Given the description of an element on the screen output the (x, y) to click on. 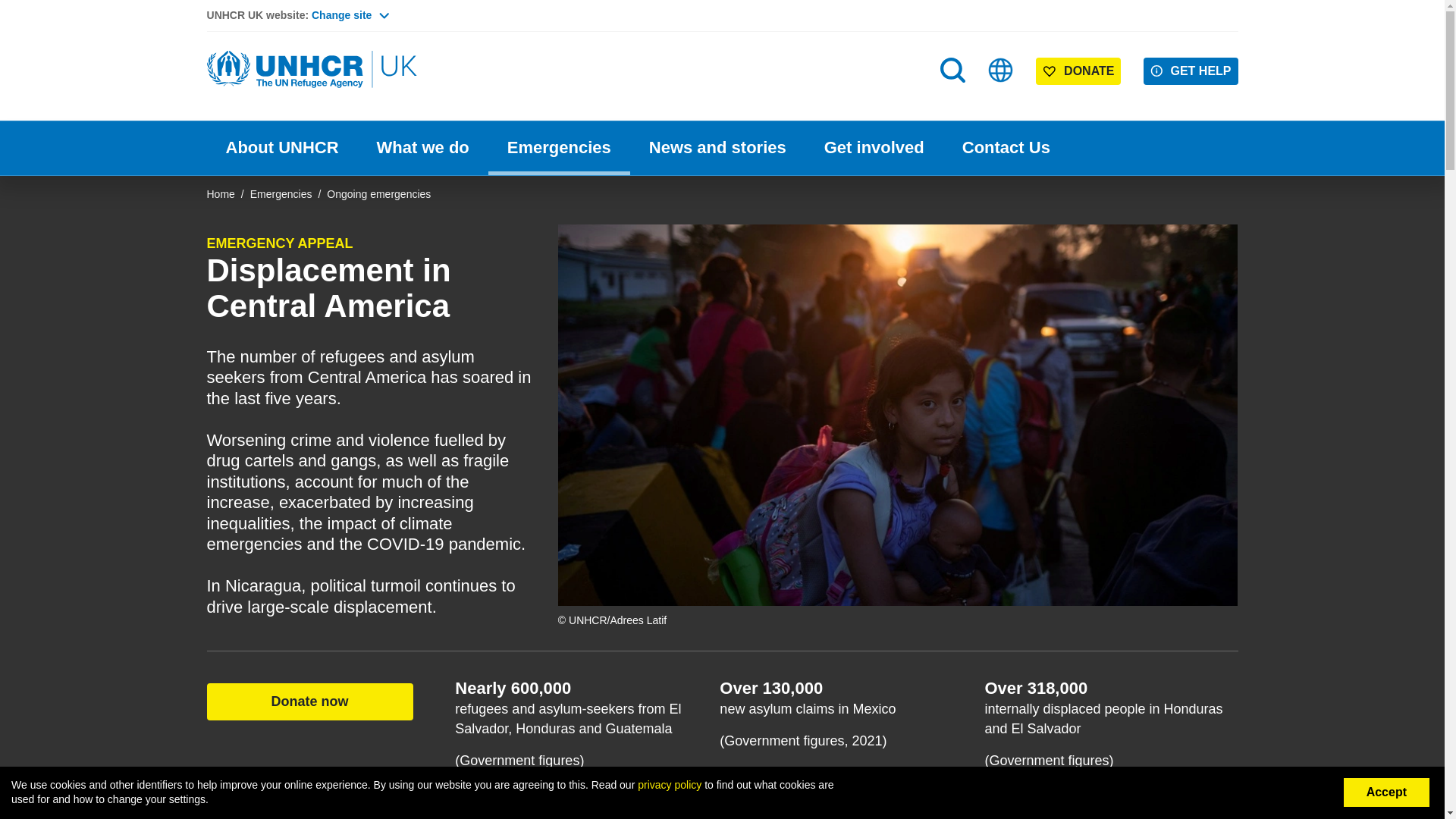
GET HELP (1189, 71)
DONATE (1078, 71)
Search (954, 99)
Search (952, 69)
Sites (1000, 69)
Home (312, 69)
Change site (349, 15)
About UNHCR (281, 148)
Skip to main content (721, 1)
